Given the description of an element on the screen output the (x, y) to click on. 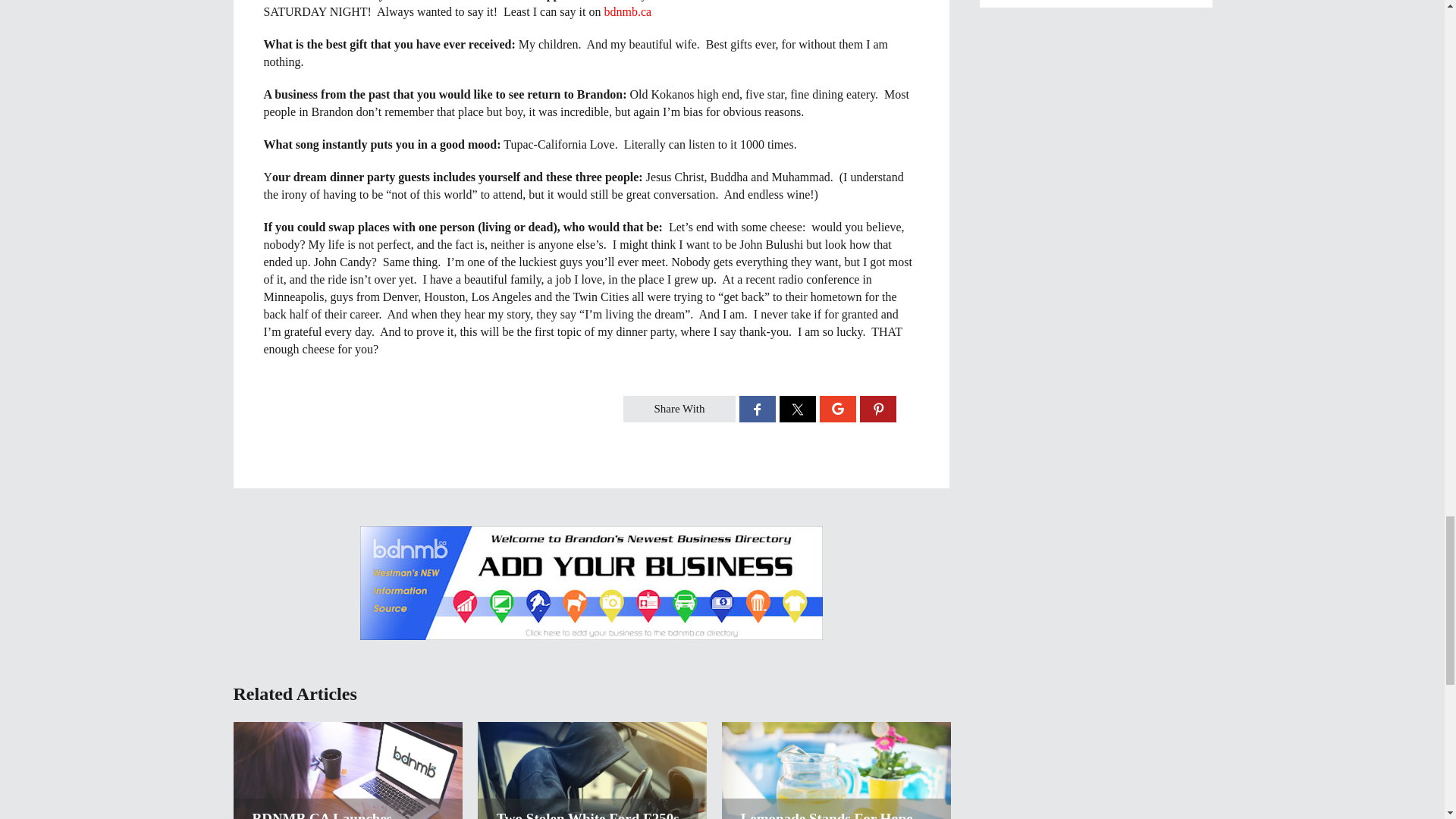
Two stolen white Ford F250s (587, 814)
BDNMB.CA Launches Business Directory (346, 814)
Lemonade Stands for Hope Kicks Off This Weekend (836, 814)
